Given the description of an element on the screen output the (x, y) to click on. 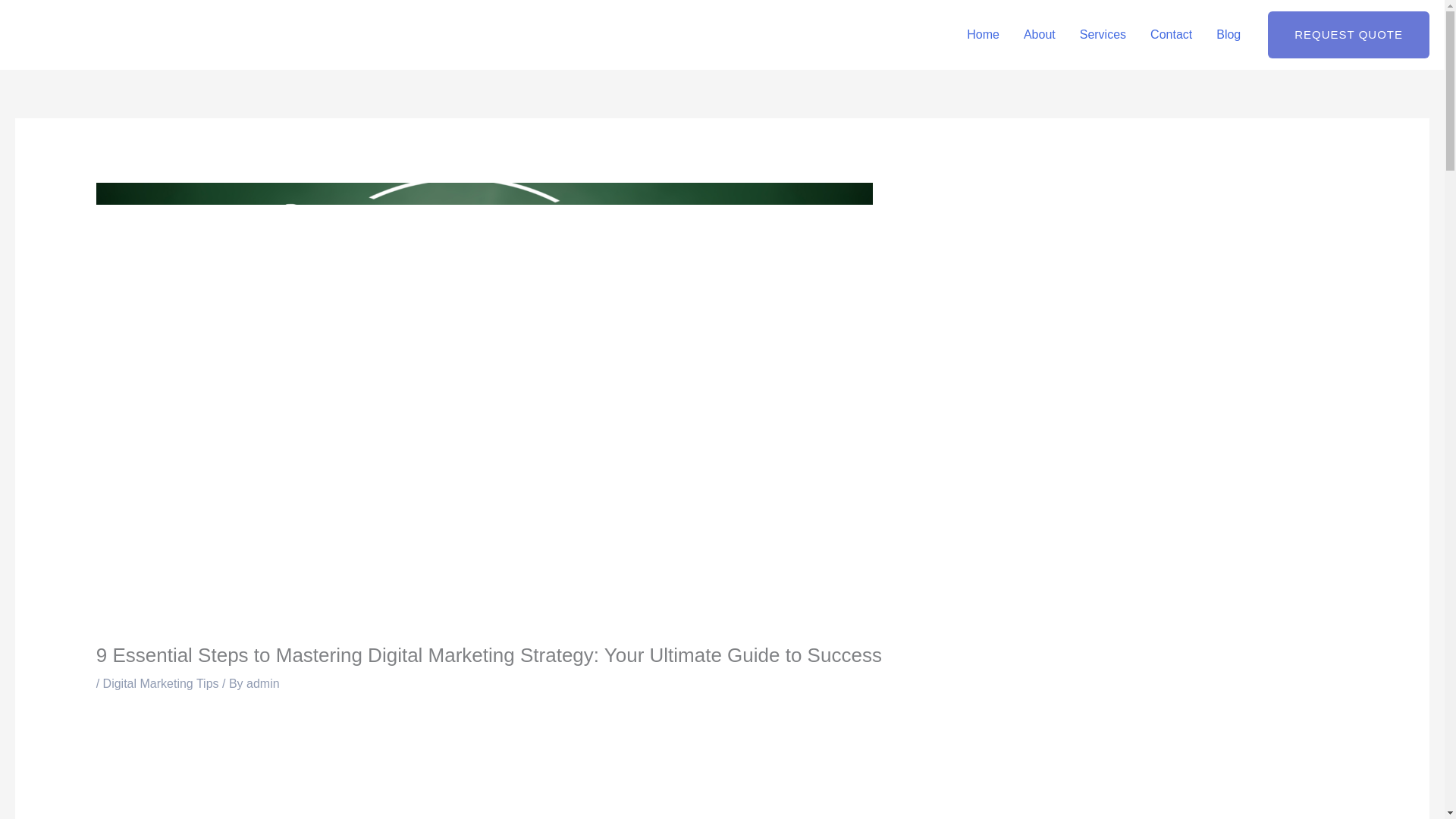
About (1039, 34)
Blog (1228, 34)
Digital Marketing Tips (161, 683)
admin (262, 683)
Services (1102, 34)
Contact (1171, 34)
View all posts by admin (262, 683)
Home (983, 34)
REQUEST QUOTE (1348, 34)
